Given the description of an element on the screen output the (x, y) to click on. 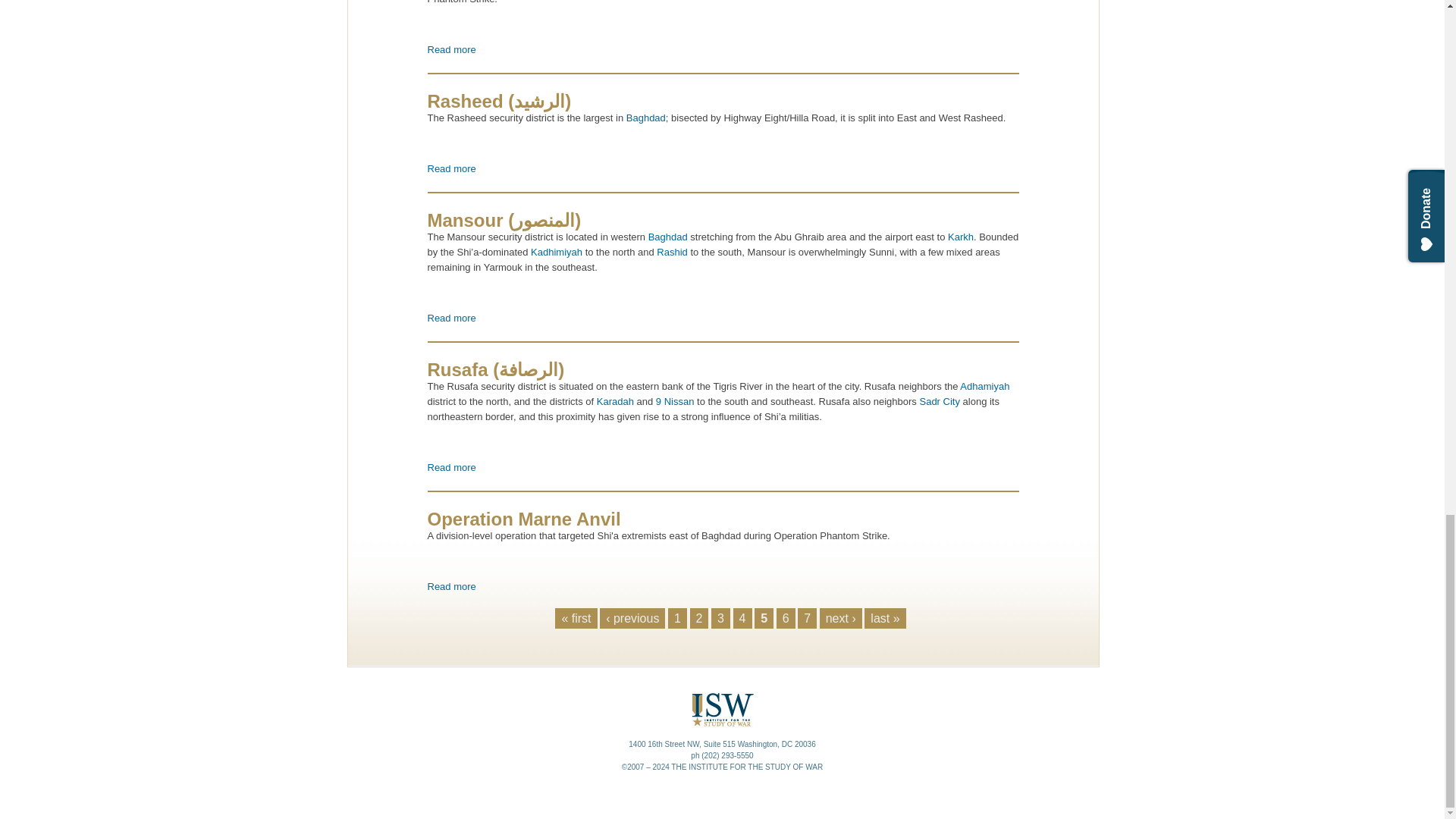
Baghdad  (668, 236)
Operation Iron Hammer (452, 49)
Baghdad (645, 117)
Kadhimiyah (556, 251)
Go to first page (575, 617)
Operation Marne Anvil (452, 586)
Karkh (960, 236)
Rashid (452, 49)
Go to previous page (671, 251)
Adhamiyah (632, 617)
